Given the description of an element on the screen output the (x, y) to click on. 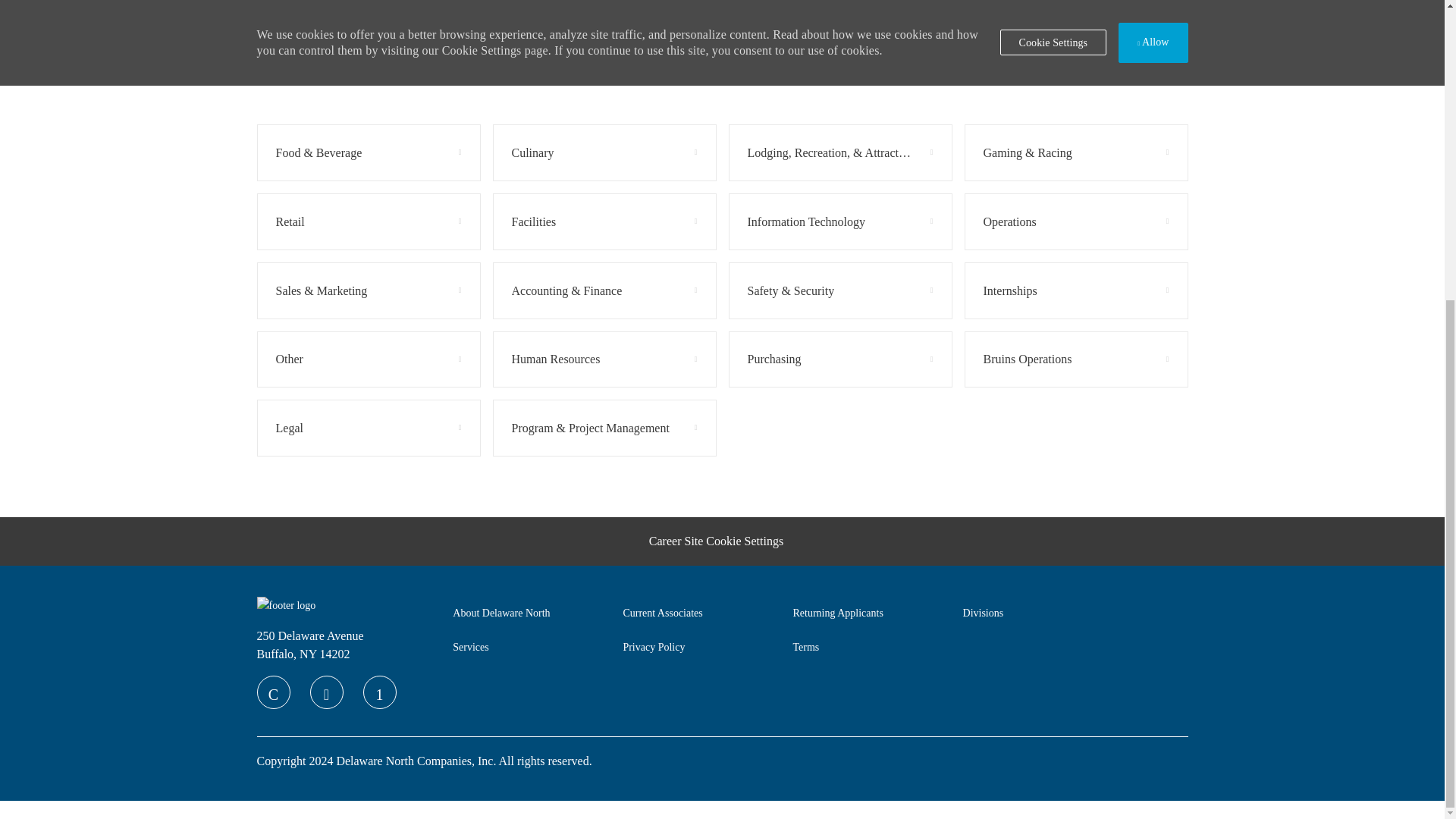
Legal (368, 427)
About Delaware North (501, 613)
Operations (1008, 221)
Career Site Cookie Settings (715, 540)
Divisions (983, 613)
Culinary (532, 153)
Purchasing (775, 359)
Facilities (604, 221)
Retail (368, 221)
Culinary (604, 152)
Internships (1009, 290)
Bruins Operations (1026, 359)
Legal (289, 428)
Returning Applicants (837, 613)
Other (368, 359)
